Given the description of an element on the screen output the (x, y) to click on. 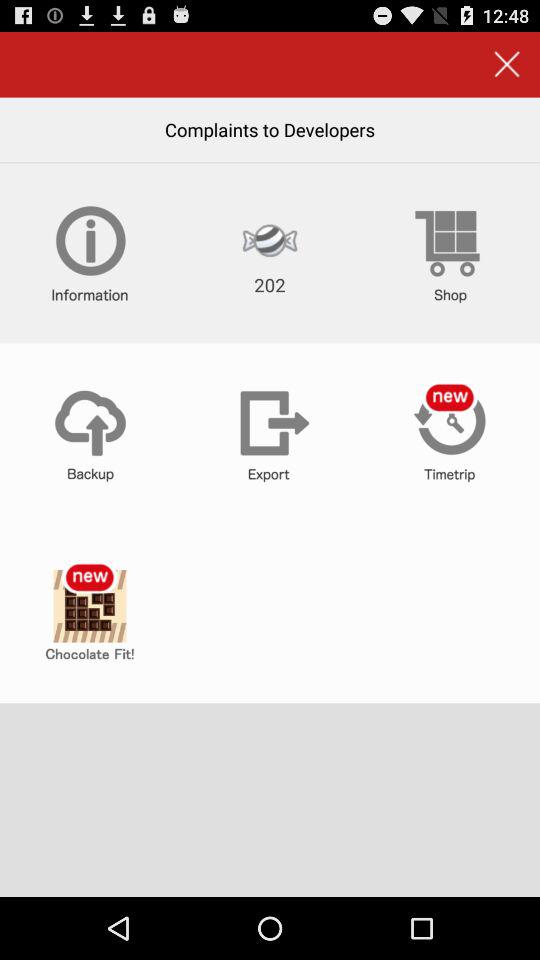
tap the icon at the center (270, 433)
